Given the description of an element on the screen output the (x, y) to click on. 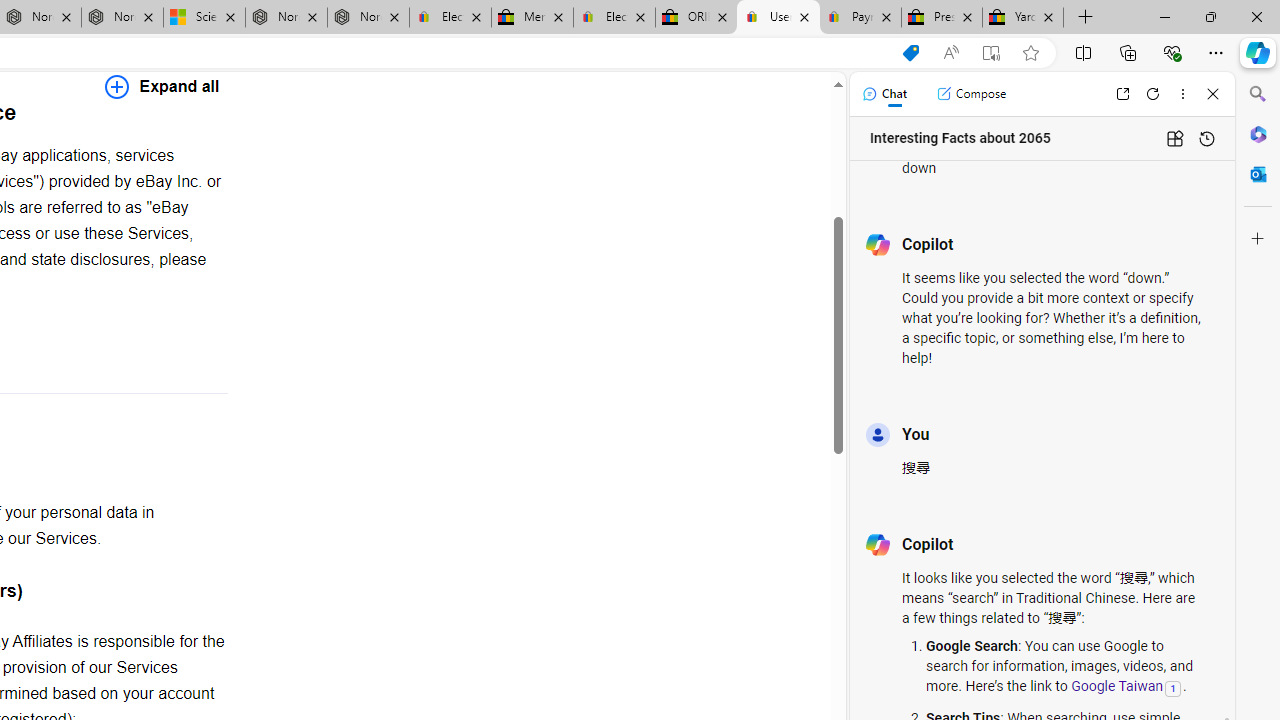
This site has coupons! Shopping in Microsoft Edge (910, 53)
Yard, Garden & Outdoor Living (1023, 17)
Nordace - Summer Adventures 2024 (285, 17)
